Given the description of an element on the screen output the (x, y) to click on. 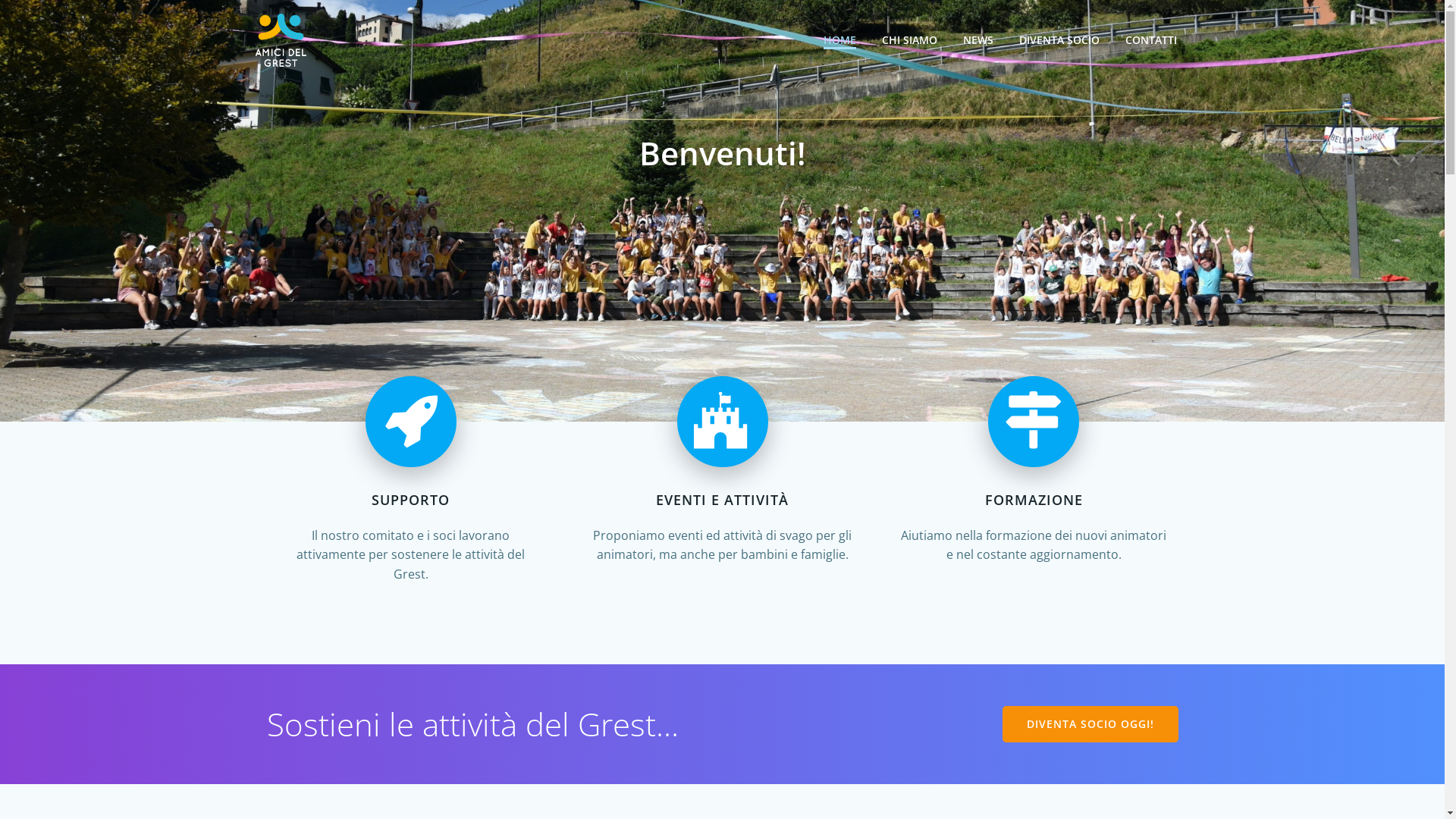
CONTATTI Element type: text (1150, 39)
DIVENTA SOCIO OGGI! Element type: text (1090, 724)
Colibri Element type: text (940, 773)
CHI SIAMO Element type: text (908, 39)
NEWS Element type: text (978, 39)
DIVENTA SOCIO Element type: text (1059, 39)
HOME Element type: text (839, 39)
